Given the description of an element on the screen output the (x, y) to click on. 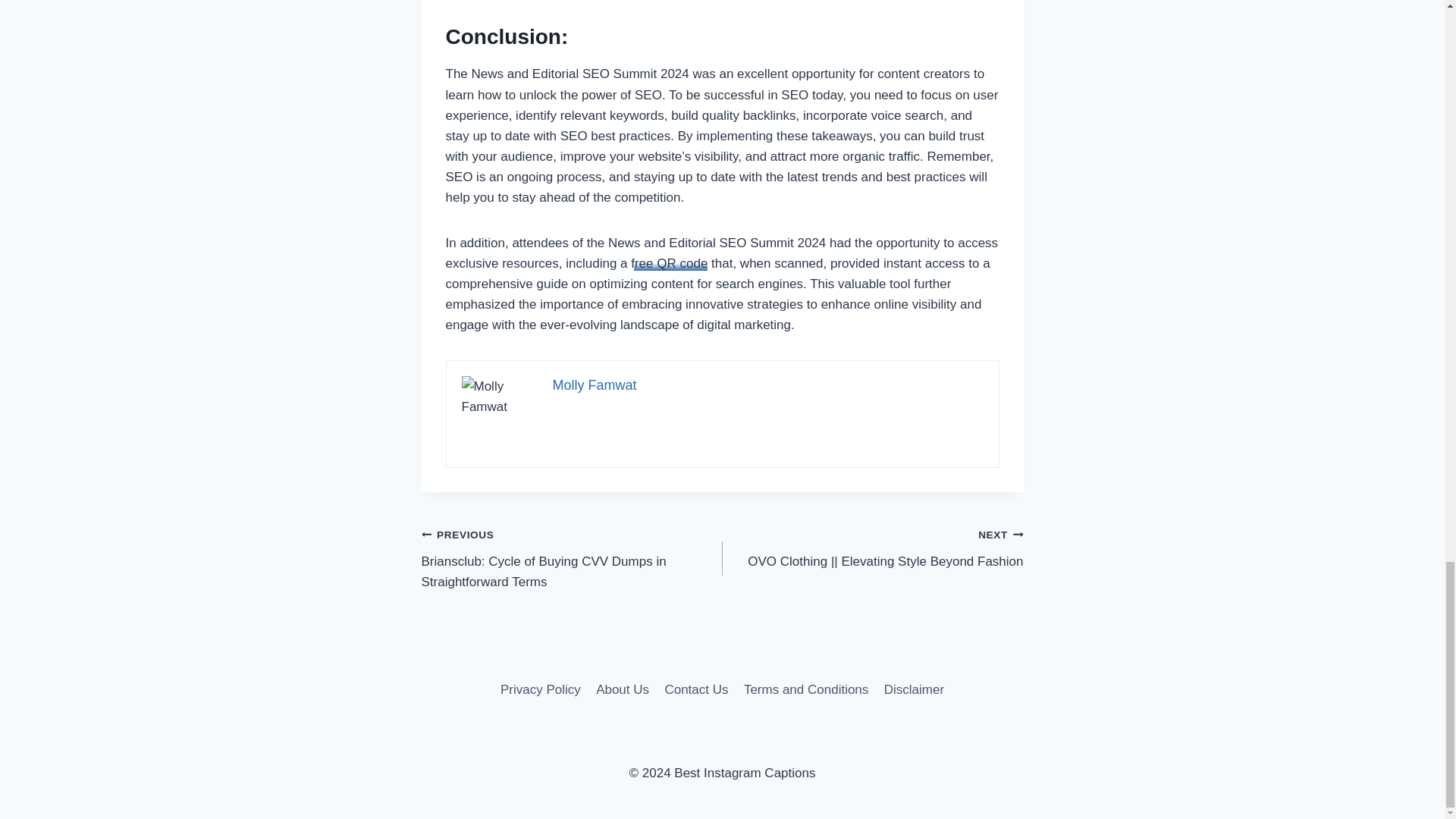
Privacy Policy (540, 689)
Contact Us (695, 689)
Molly Famwat (593, 385)
free QR code (668, 263)
About Us (622, 689)
Disclaimer (914, 689)
Terms and Conditions (806, 689)
